Given the description of an element on the screen output the (x, y) to click on. 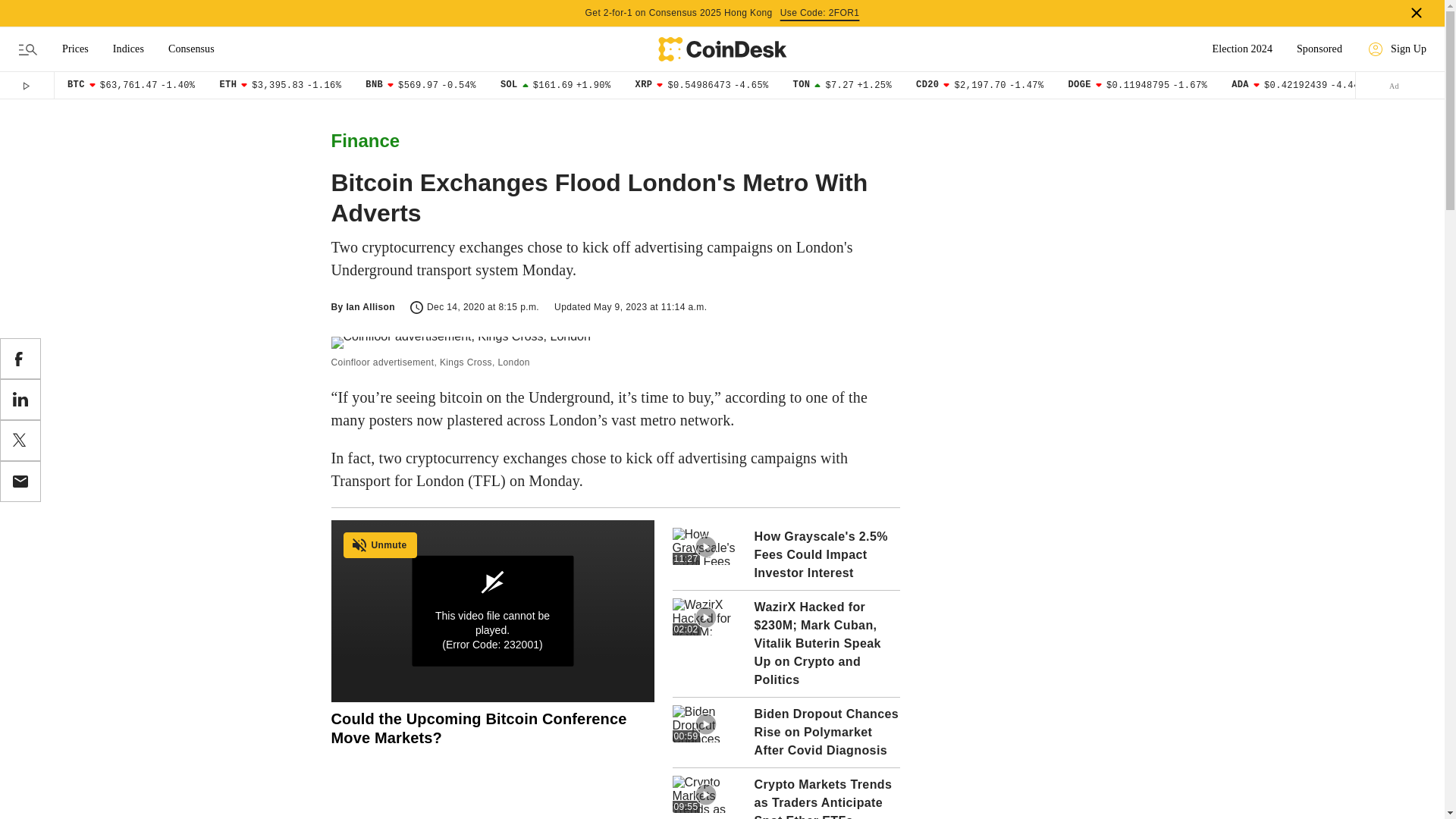
Share on X (20, 440)
Share on Facebook (20, 358)
Share on LinkedIn (20, 399)
Share via Email (20, 481)
Use Code: 2FOR1 (820, 13)
